Given the description of an element on the screen output the (x, y) to click on. 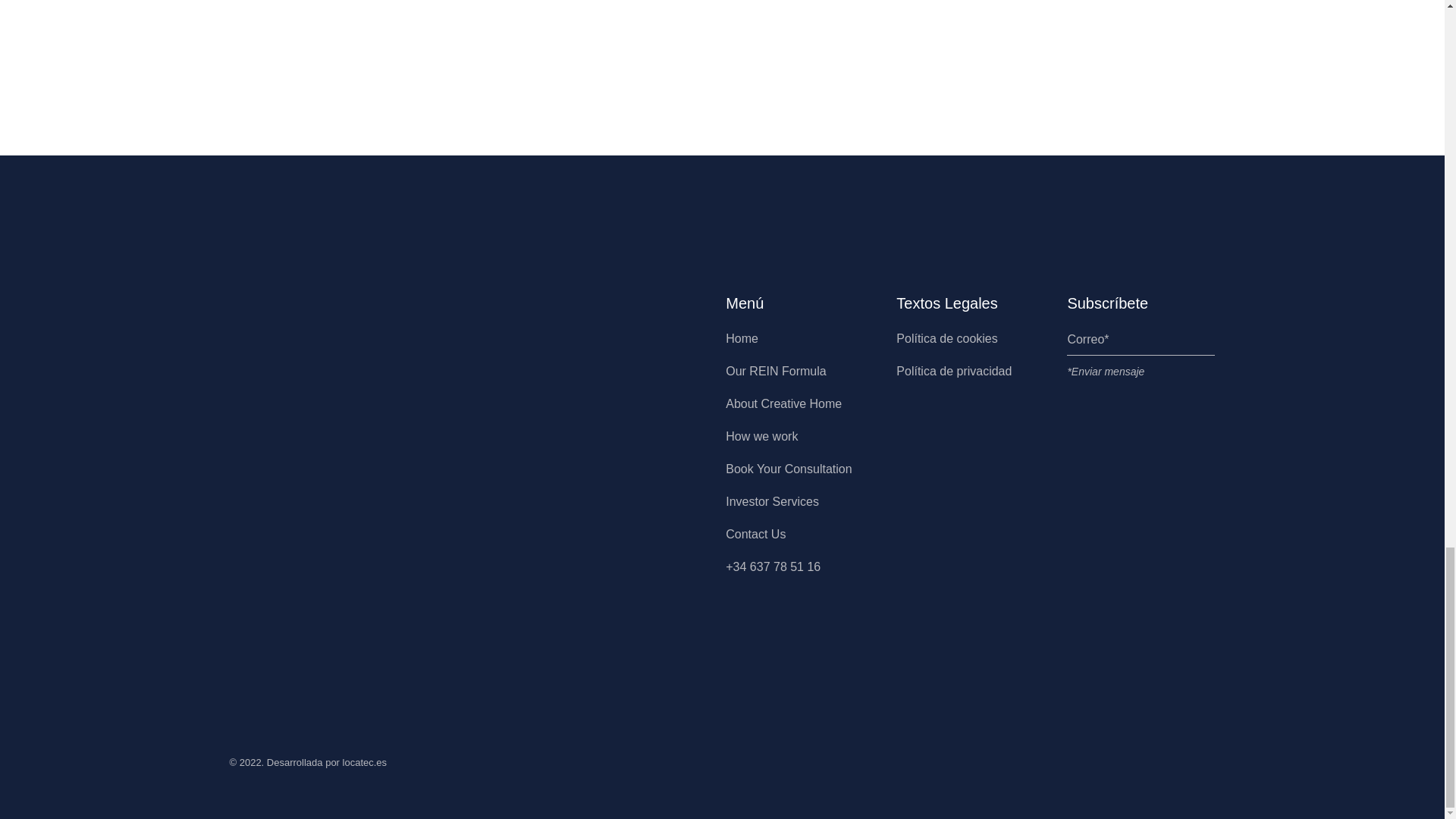
Our REIN Formula (775, 370)
About Creative Home (783, 403)
Home (741, 338)
How we work (761, 436)
Book Your Consultation (788, 468)
